Given the description of an element on the screen output the (x, y) to click on. 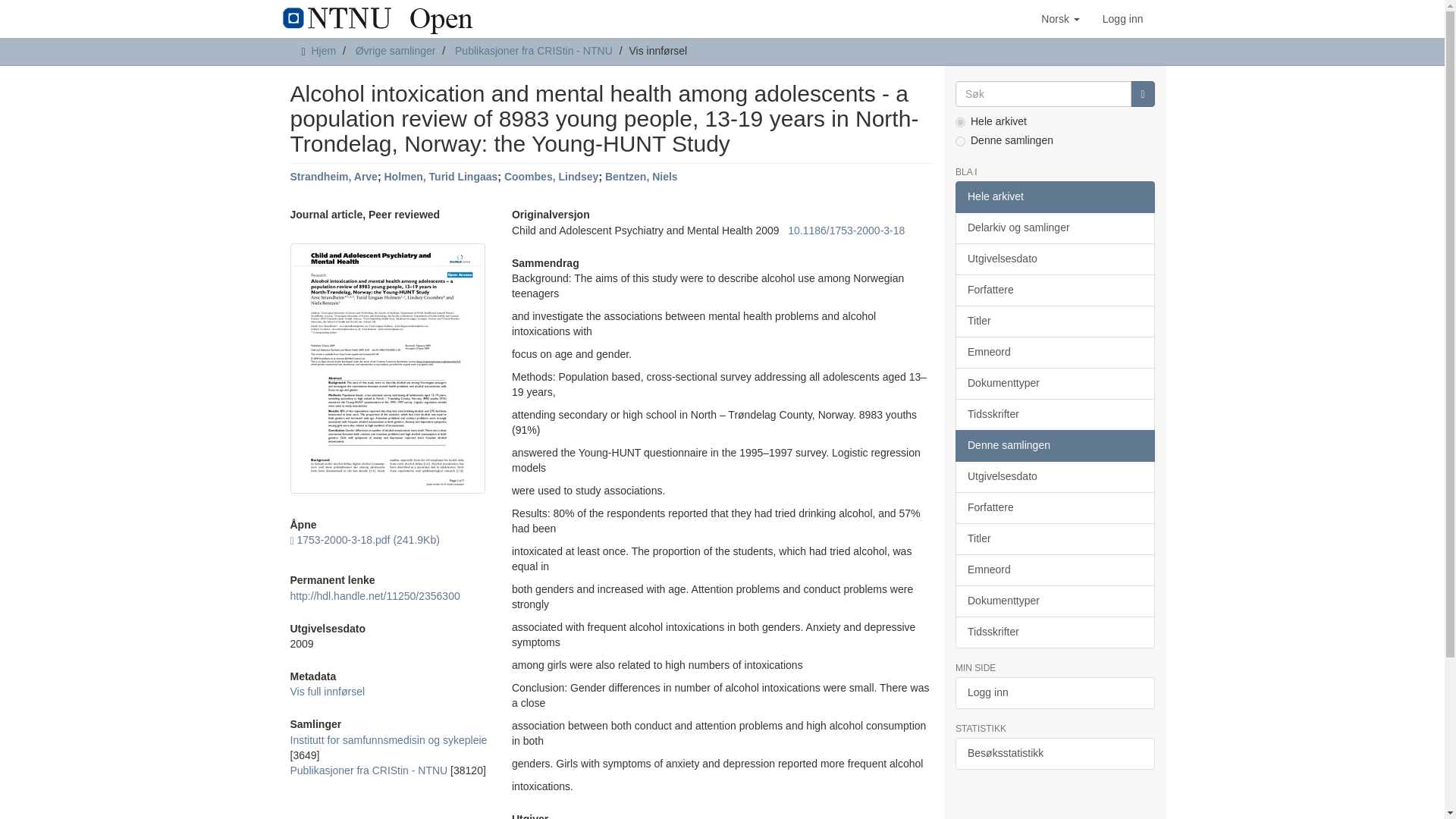
Institutt for samfunnsmedisin og sykepleie (387, 739)
Delarkiv og samlinger (1054, 228)
Holmen, Turid Lingaas (440, 176)
Publikasjoner fra CRIStin - NTNU (367, 770)
Utgivelsesdato (1054, 259)
Coombes, Lindsey (550, 176)
Hjem (323, 50)
Norsk  (1059, 18)
Strandheim, Arve (333, 176)
Publikasjoner fra CRIStin - NTNU (533, 50)
Bentzen, Niels (641, 176)
Logg inn (1122, 18)
Hele arkivet (1054, 196)
